Given the description of an element on the screen output the (x, y) to click on. 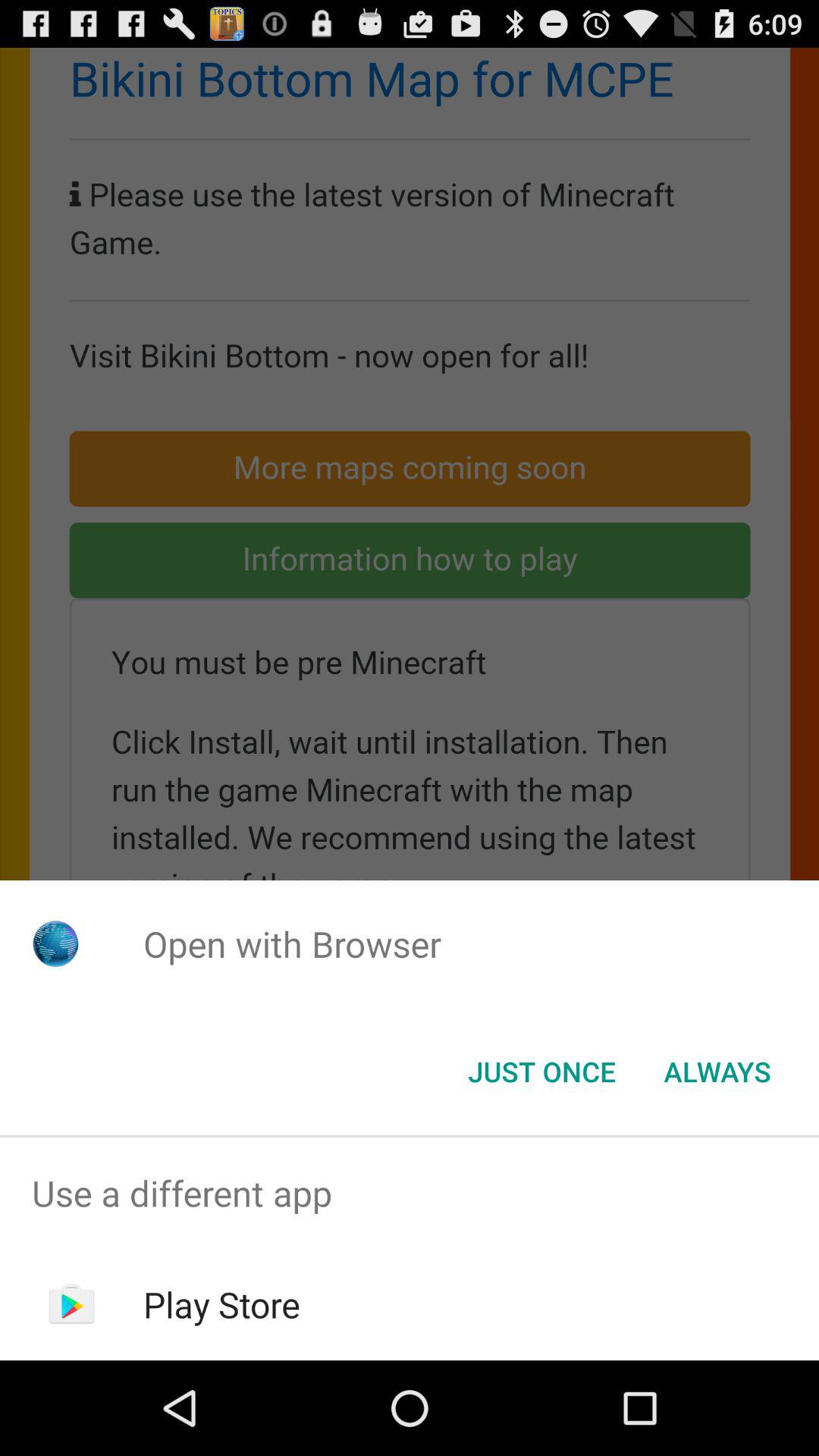
click app below the open with browser app (717, 1071)
